Given the description of an element on the screen output the (x, y) to click on. 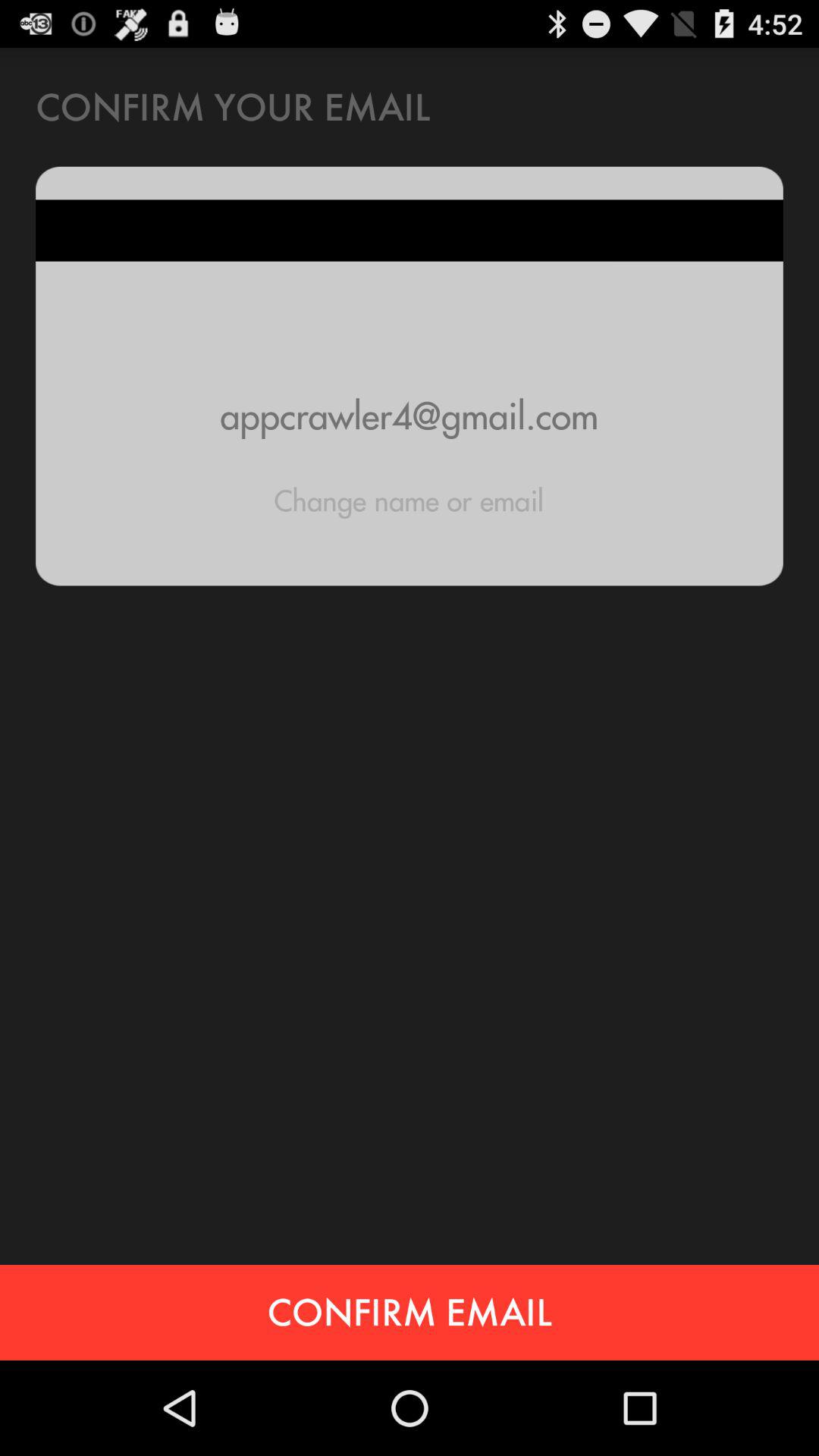
jump until change name or item (409, 500)
